Given the description of an element on the screen output the (x, y) to click on. 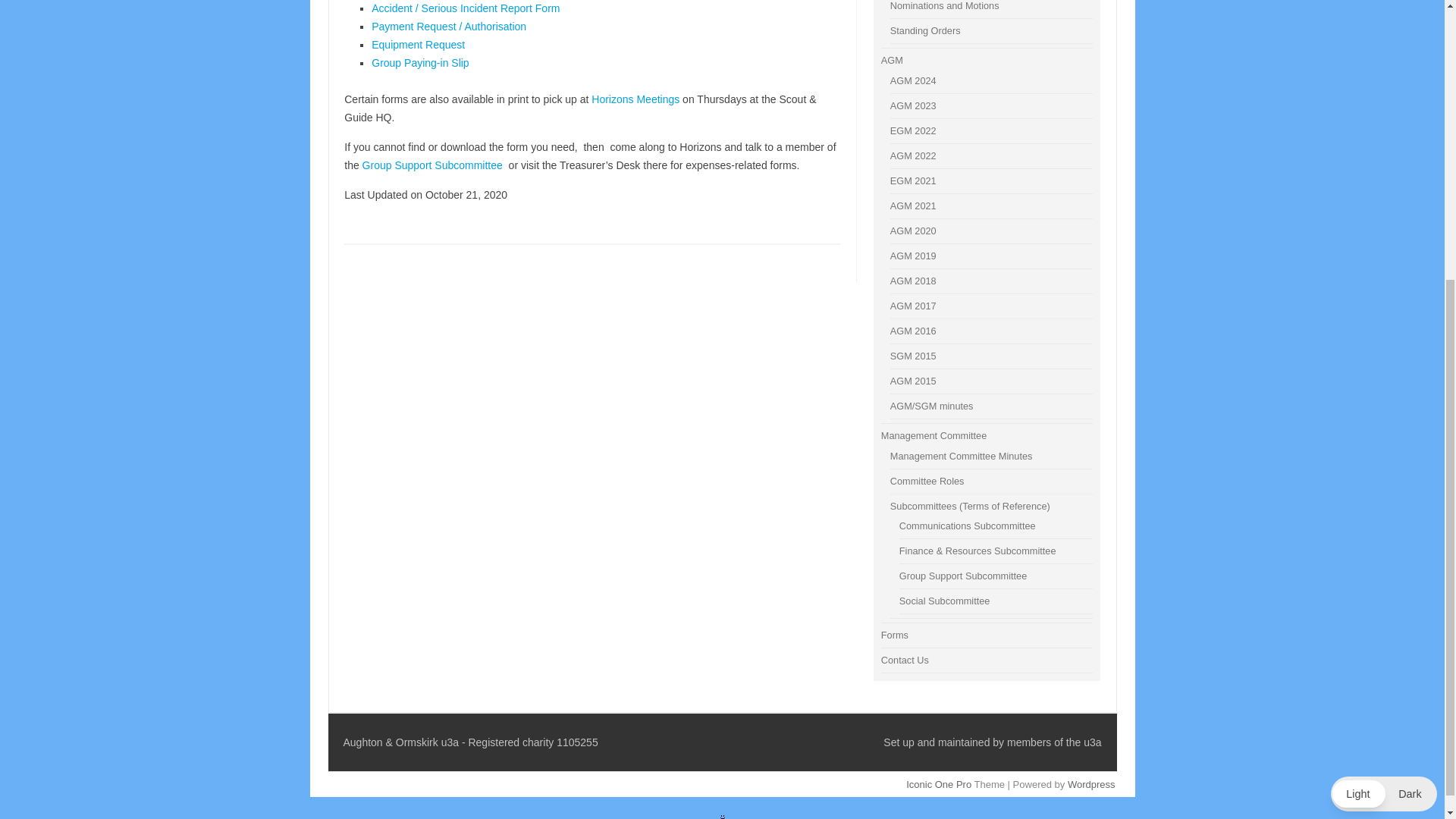
Group Support Subcommittee (432, 164)
Equipment Request (417, 44)
Horizons Meetings (635, 99)
AGM (931, 405)
Group Paying-in Slip (419, 62)
